Given the description of an element on the screen output the (x, y) to click on. 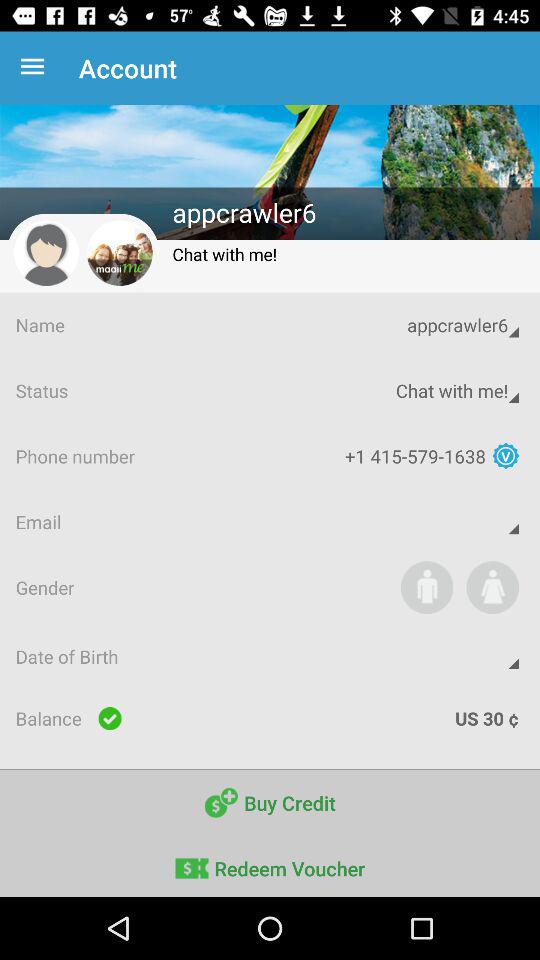
select gender (426, 587)
